Given the description of an element on the screen output the (x, y) to click on. 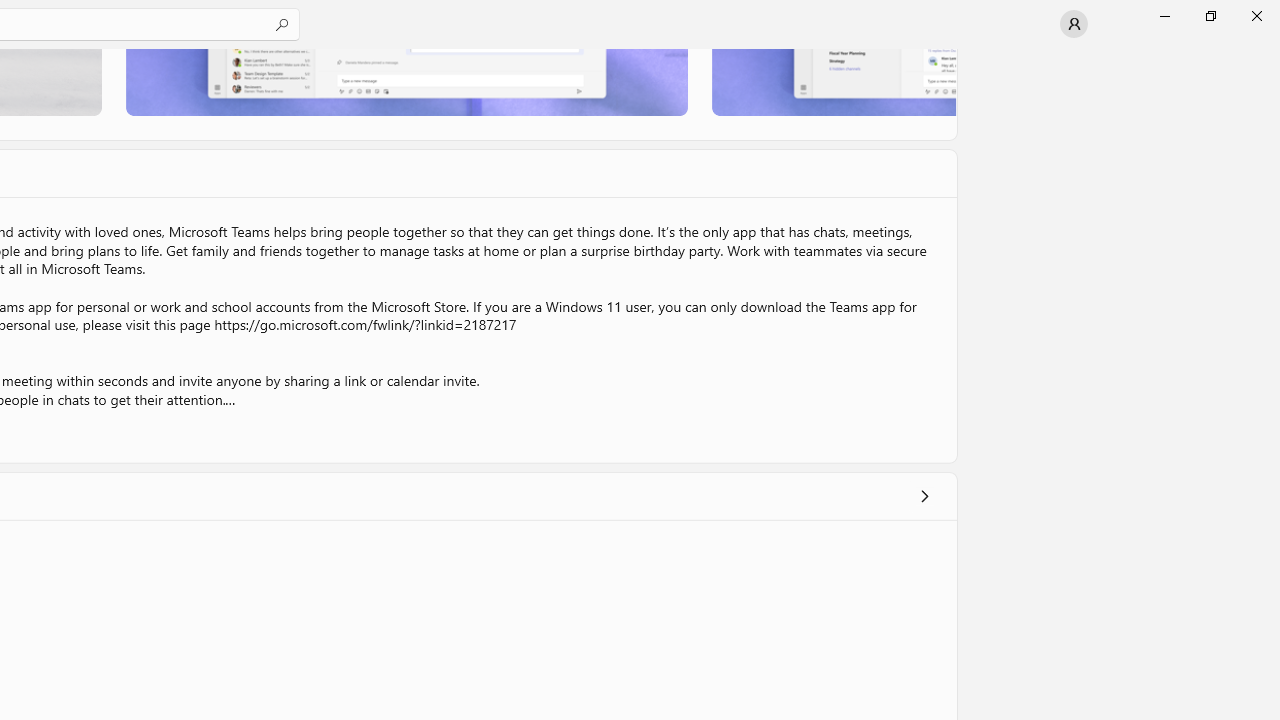
Restore Microsoft Store (1210, 15)
Minimize Microsoft Store (1164, 15)
Close Microsoft Store (1256, 15)
Screenshot 3 (833, 81)
Show all ratings and reviews (924, 495)
User profile (1073, 24)
Screenshot 2 (406, 81)
